Given the description of an element on the screen output the (x, y) to click on. 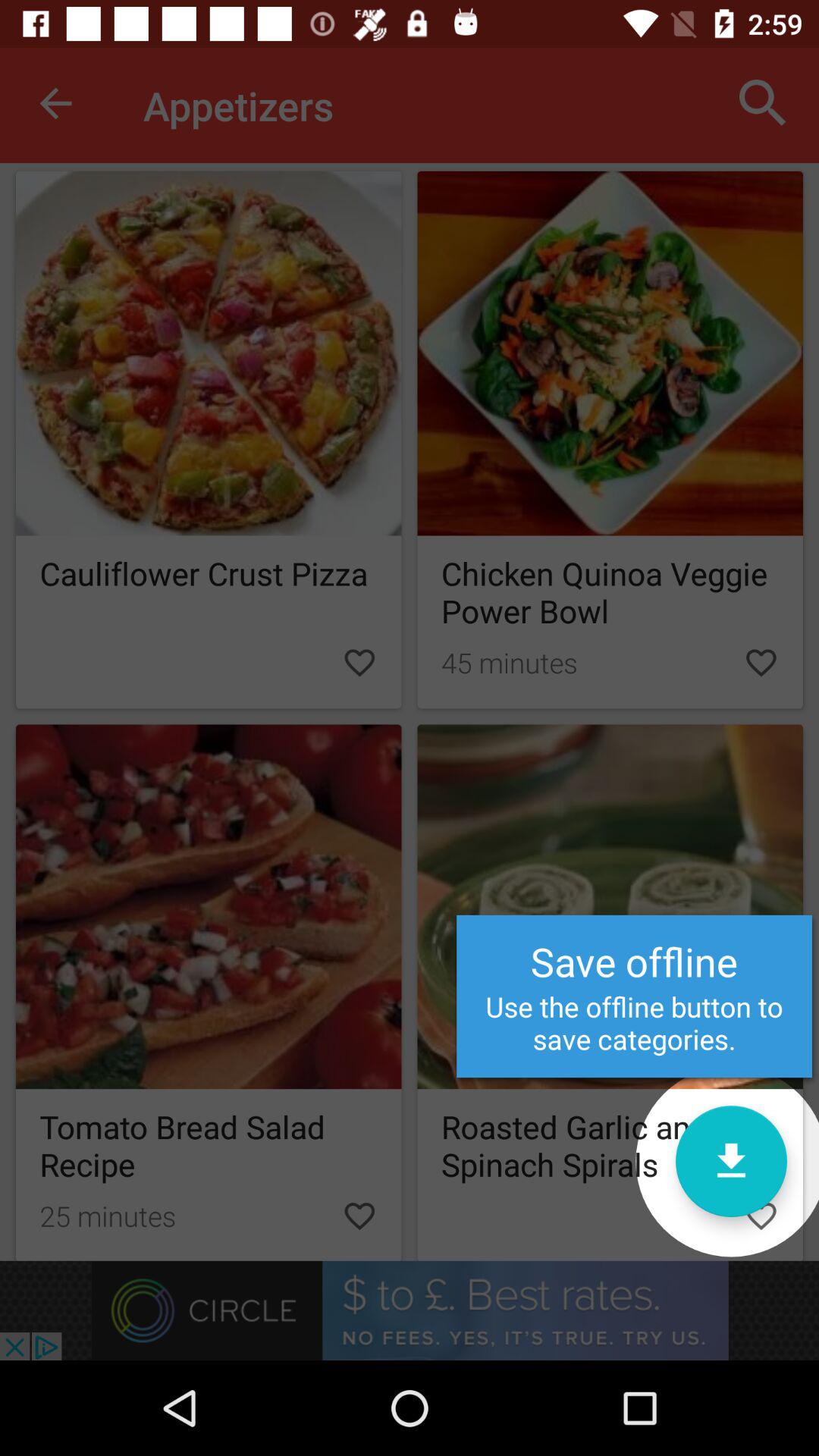
save offline (731, 1161)
